Given the description of an element on the screen output the (x, y) to click on. 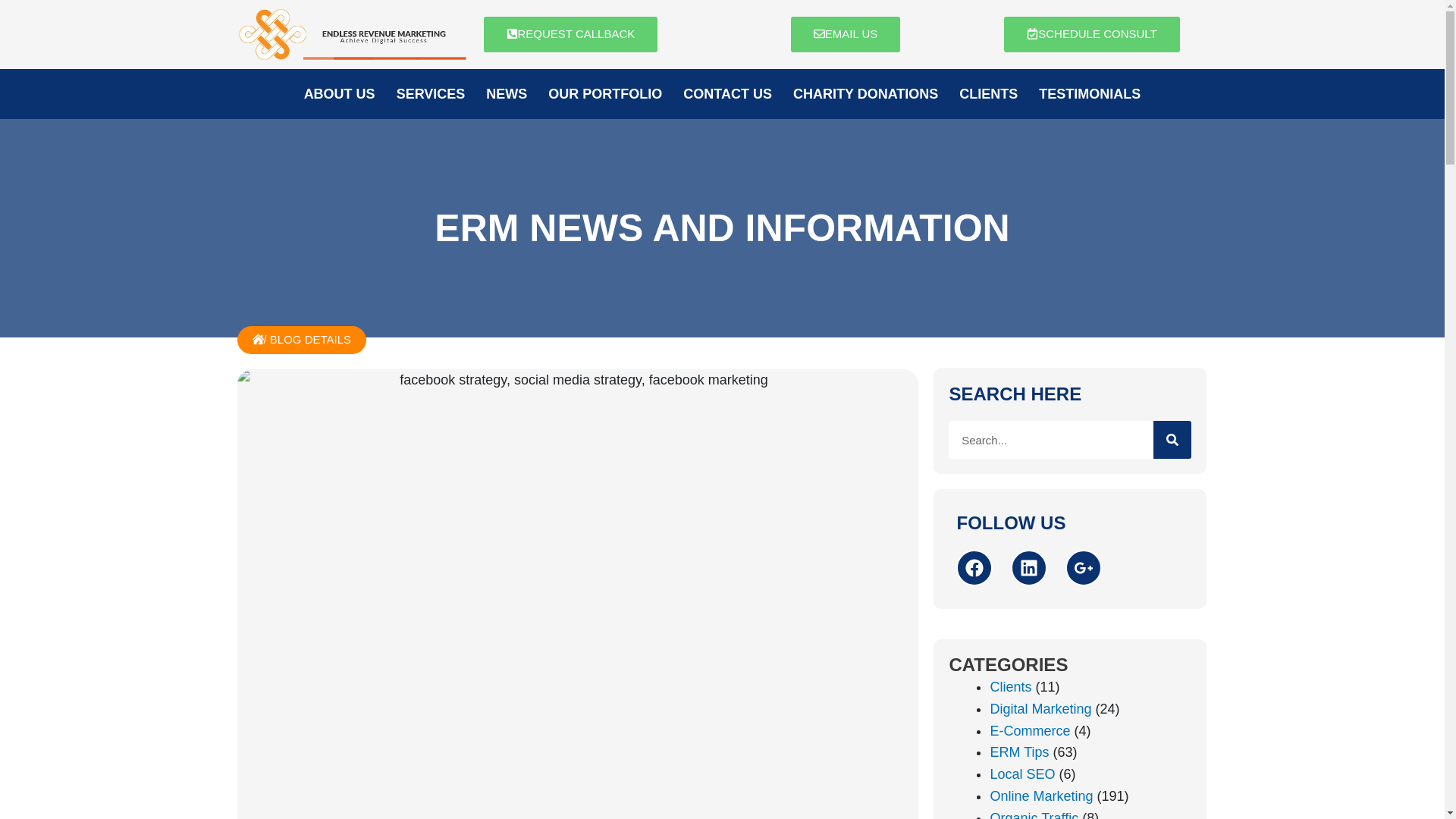
NEWS (506, 93)
EMAIL US (844, 34)
CHARITY DONATIONS (866, 93)
CONTACT US (727, 93)
SCHEDULE CONSULT (1091, 34)
CLIENTS (988, 93)
REQUEST CALLBACK (570, 34)
TESTIMONIALS (1089, 93)
SERVICES (430, 93)
ABOUT US (339, 93)
OUR PORTFOLIO (604, 93)
